Given the description of an element on the screen output the (x, y) to click on. 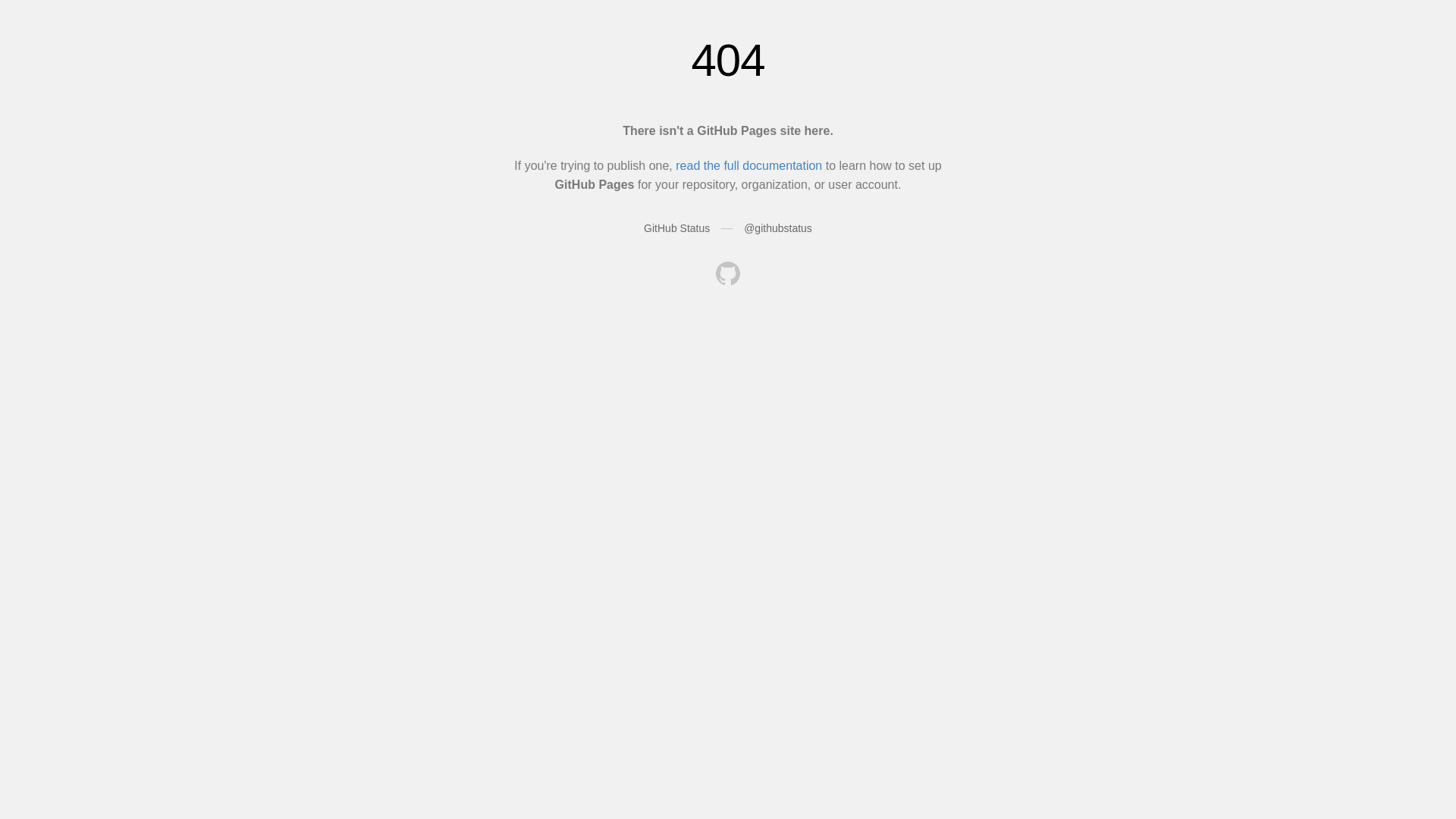
read the full documentation Element type: text (748, 165)
GitHub Status Element type: text (676, 228)
@githubstatus Element type: text (777, 228)
